Given the description of an element on the screen output the (x, y) to click on. 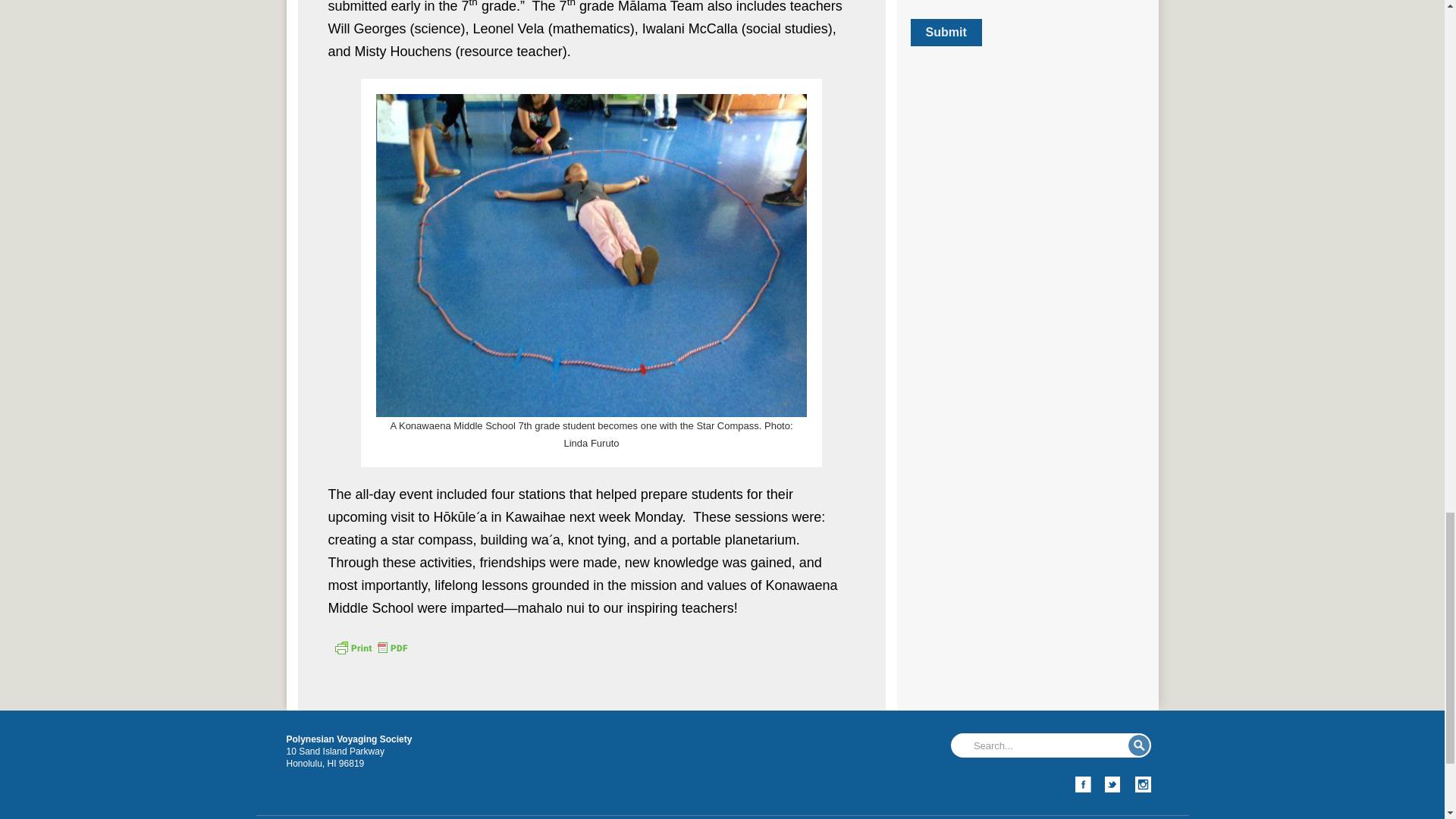
Submit (945, 31)
Hokulea Twitter (1113, 784)
Hokulea Facebook (1082, 784)
Hokulea Instagram (1142, 784)
